Given the description of an element on the screen output the (x, y) to click on. 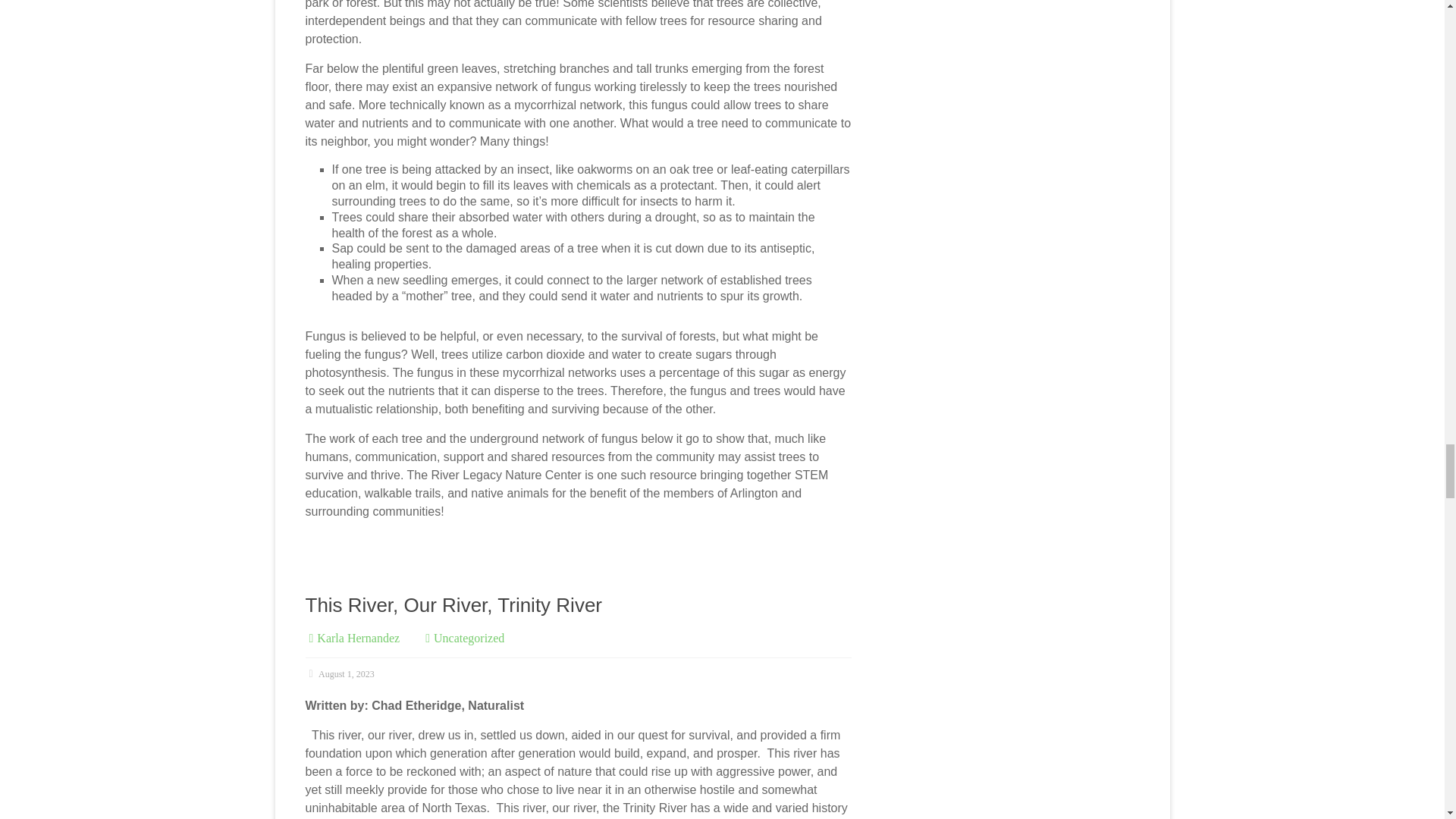
Uncategorized (468, 637)
Karla Hernandez (357, 637)
This River, Our River, Trinity River (453, 604)
August 1, 2023 (339, 674)
